Given the description of an element on the screen output the (x, y) to click on. 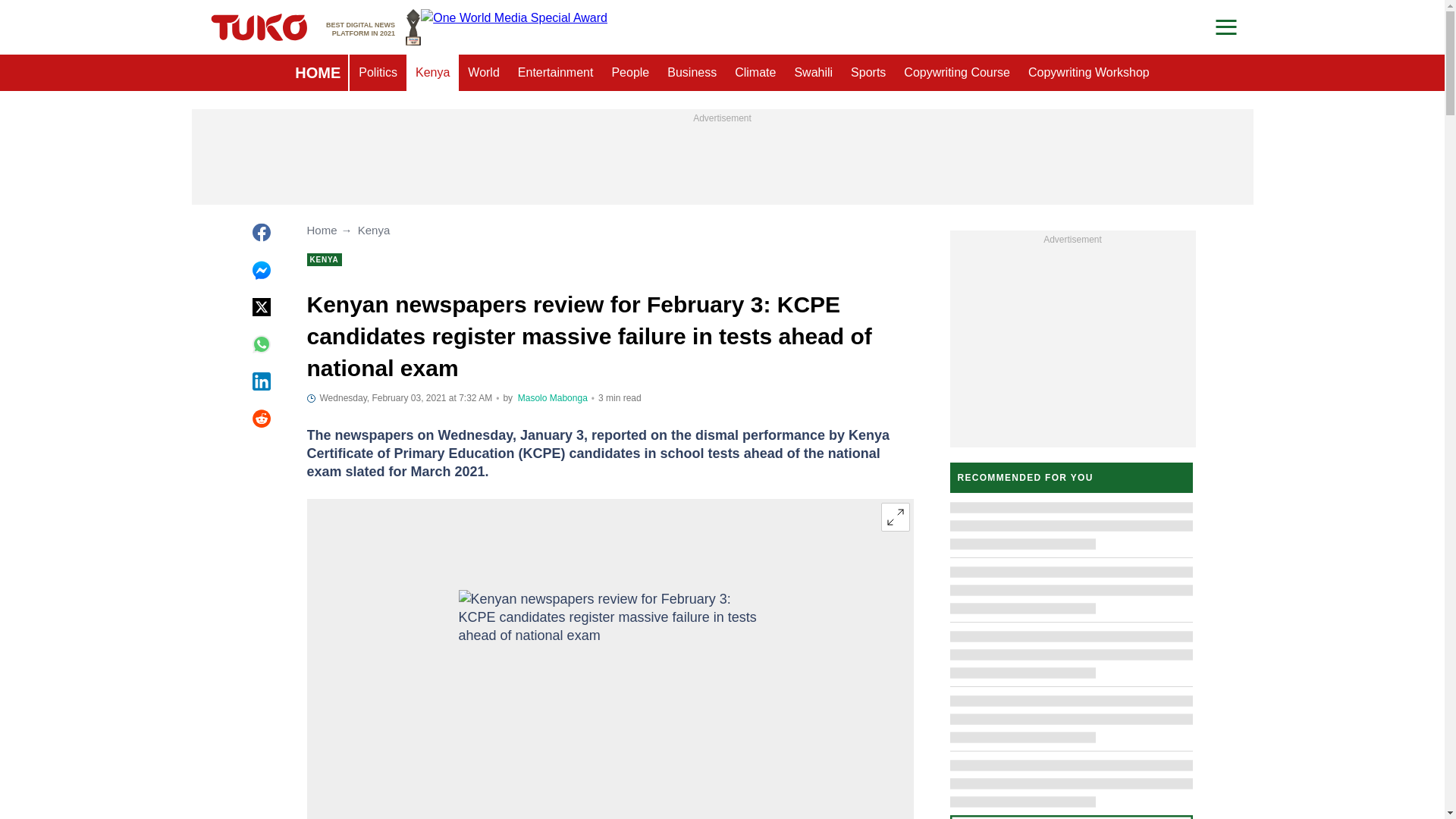
Sports (868, 72)
World (483, 72)
Copywriting Course (957, 72)
Entertainment (555, 72)
Business (691, 72)
Kenya (432, 72)
Author page (553, 398)
Politics (377, 72)
Swahili (812, 72)
HOME (317, 72)
